Given the description of an element on the screen output the (x, y) to click on. 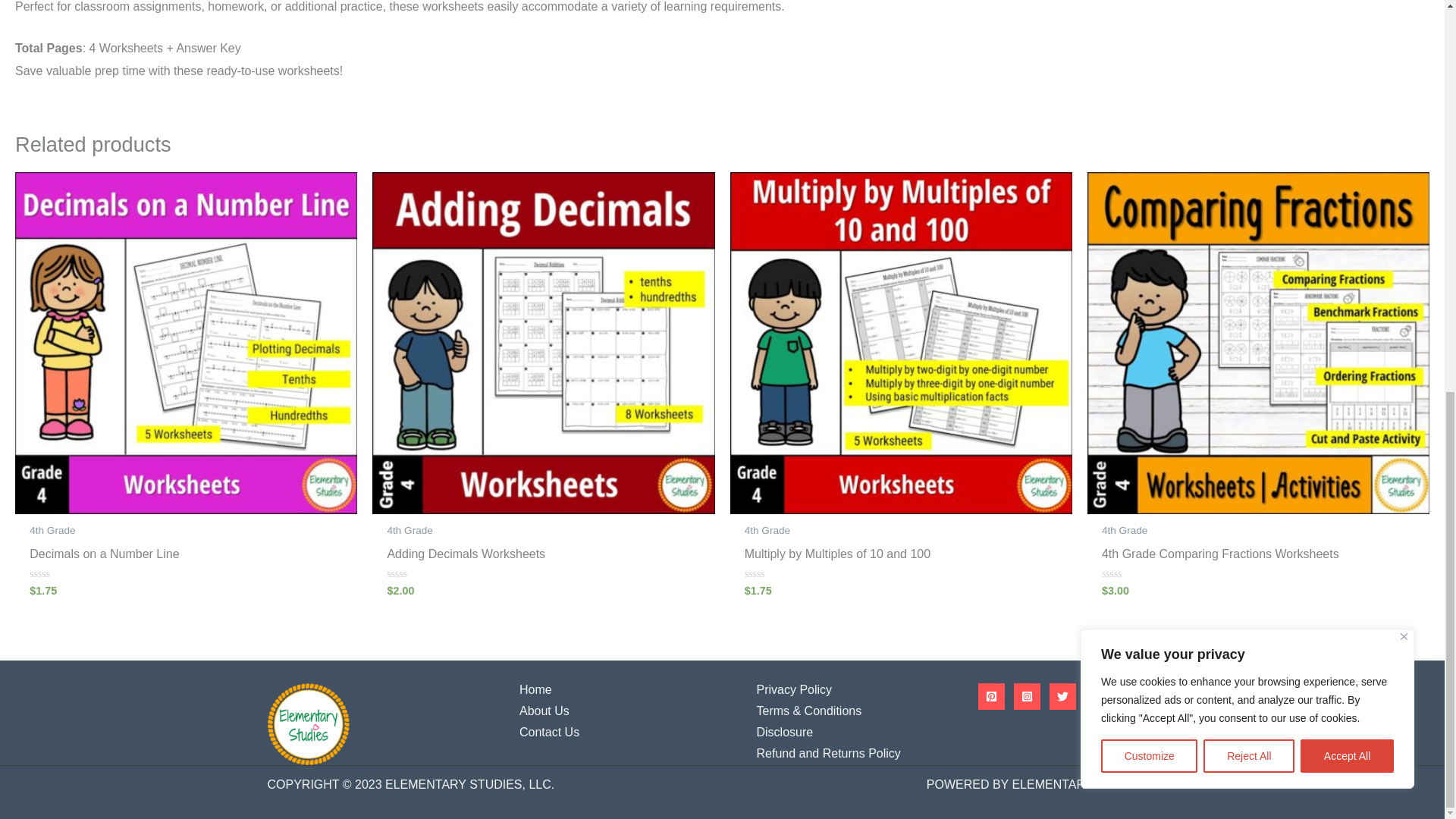
Accept All (1346, 11)
Reject All (1249, 11)
Customize (1148, 11)
